Given the description of an element on the screen output the (x, y) to click on. 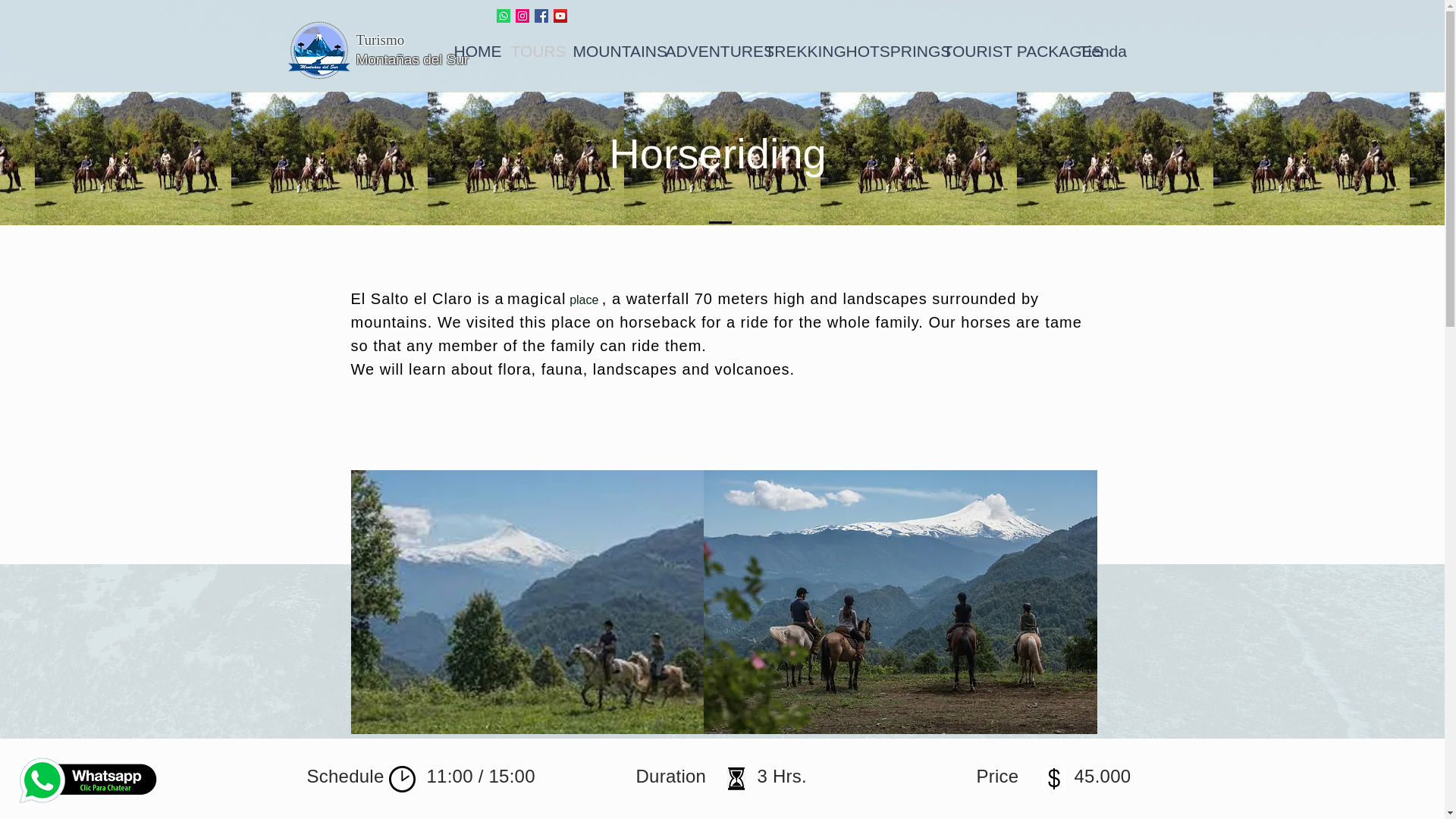
ADVENTURES (702, 51)
HOME (470, 51)
MOUNTAINS (606, 51)
TREKKING (794, 51)
TOURS (529, 51)
Turismo (380, 39)
